Given the description of an element on the screen output the (x, y) to click on. 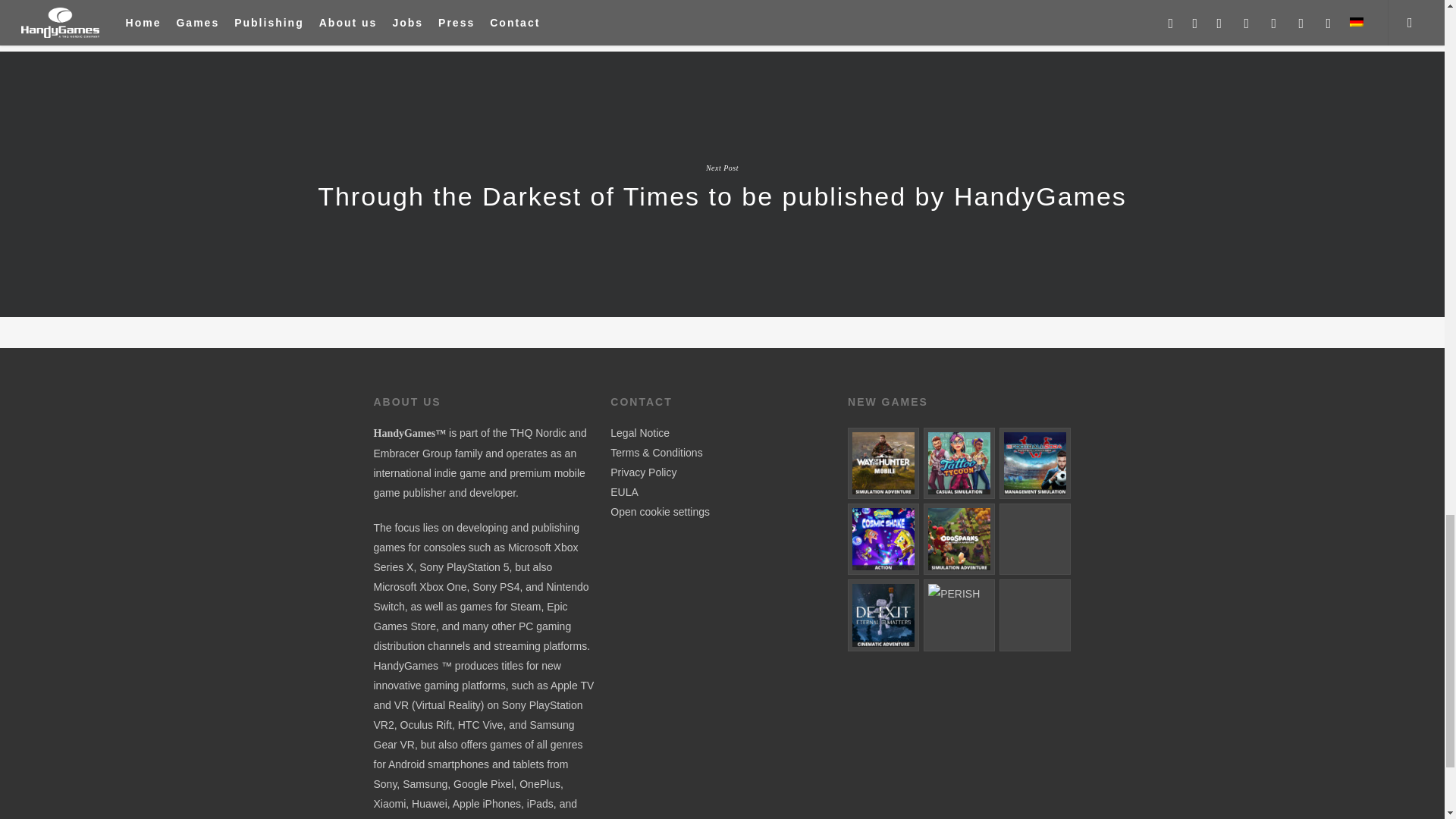
We Are Football 2024 (1034, 462)
Lethal Honor (1034, 538)
Open Cookie Preferences (660, 511)
SpongeBob SquarePants: The Cosmic Shake (882, 538)
De-Exit (882, 614)
Open cookie settings (660, 511)
Legal Notice (639, 432)
Way of the Hunter (882, 462)
Tattoo Tycoon (958, 462)
Airhead (1034, 614)
